Given the description of an element on the screen output the (x, y) to click on. 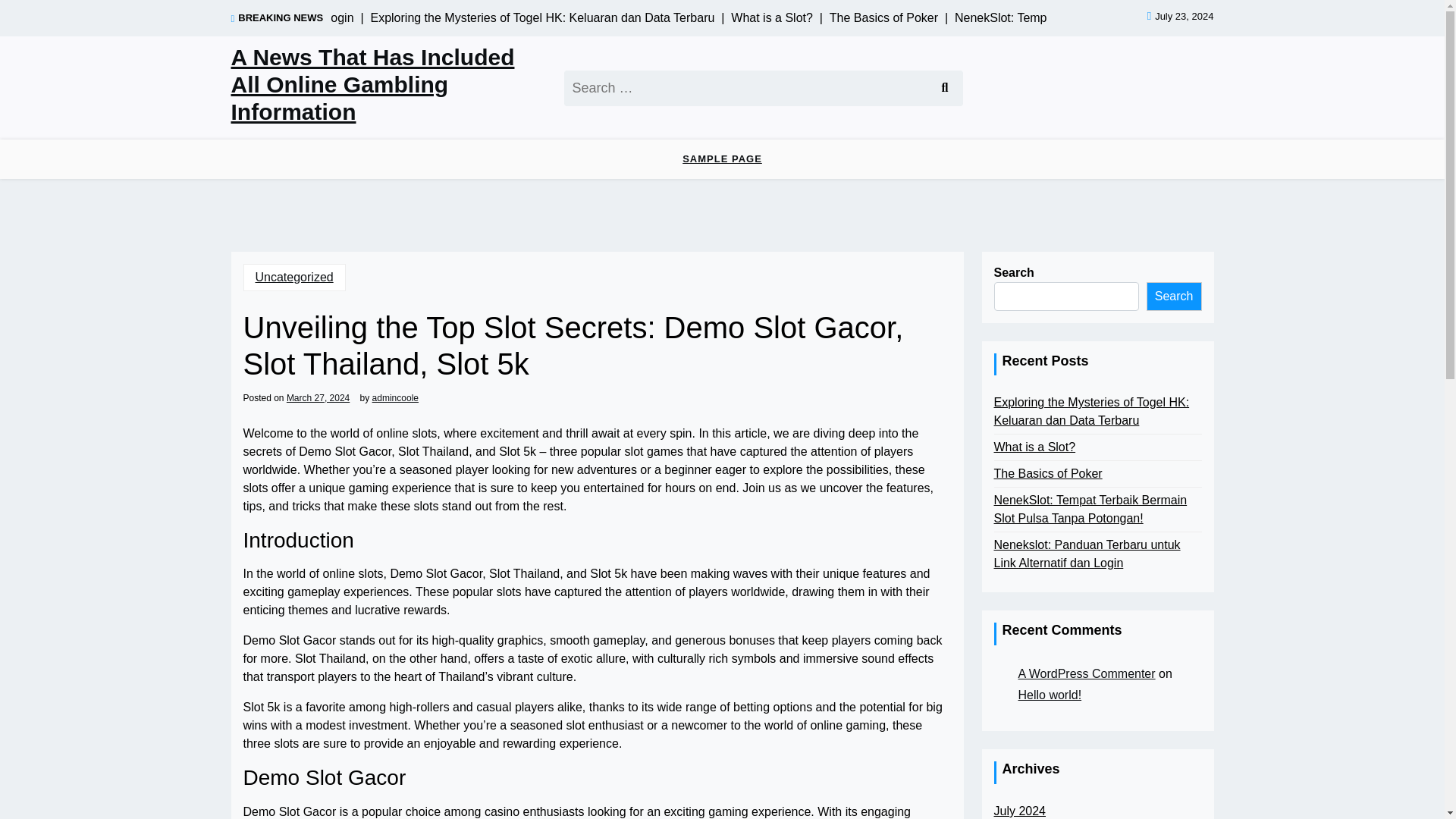
The Basics of Poker (1047, 474)
Uncategorized (294, 277)
Search (943, 87)
What is a Slot? (1033, 447)
Search (943, 87)
March 27, 2024 (317, 397)
Nenekslot: Panduan Terbaru untuk Link Alternatif dan Login (1096, 554)
admincoole (395, 397)
Search (943, 87)
A WordPress Commenter (1085, 674)
July 2024 (1018, 810)
NenekSlot: Tempat Terbaik Bermain Slot Pulsa Tanpa Potongan! (1096, 509)
A News That Has Included All Online Gambling Information (388, 85)
SAMPLE PAGE (721, 159)
